Given the description of an element on the screen output the (x, y) to click on. 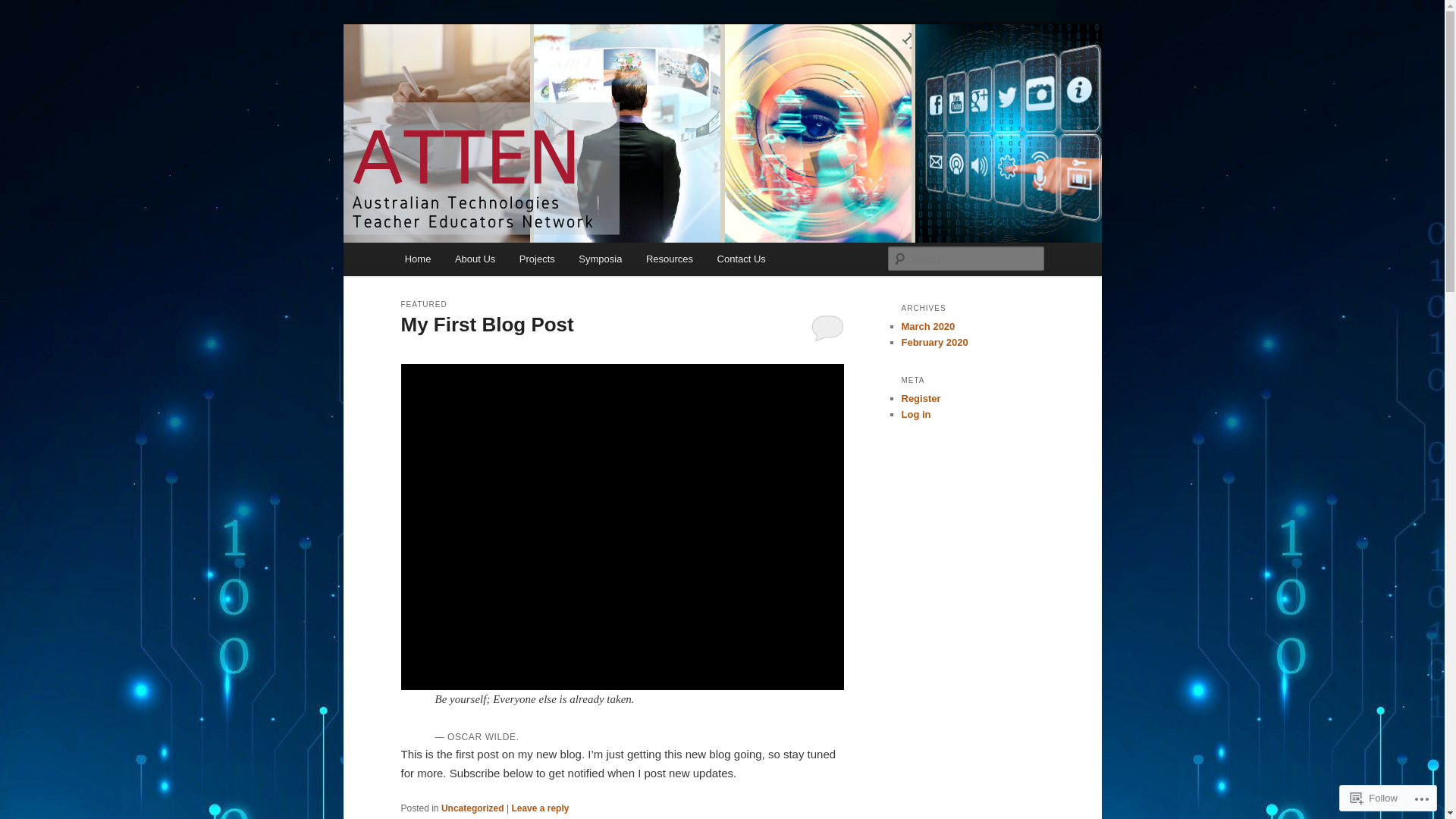
February 2020 Element type: text (933, 342)
Skip to primary content Element type: text (22, 22)
Uncategorized Element type: text (472, 807)
About Us Element type: text (474, 258)
Resources Element type: text (669, 258)
Register Element type: text (920, 398)
Projects Element type: text (536, 258)
Search Element type: text (24, 8)
matthewbower Element type: text (567, 352)
Contact Us Element type: text (741, 258)
Follow Element type: text (1373, 797)
Leave a reply Element type: text (539, 807)
Home Element type: text (417, 258)
Log in Element type: text (915, 414)
My First Blog Post Element type: text (486, 324)
February 25, 2020 Element type: text (482, 352)
March 2020 Element type: text (927, 326)
Symposia Element type: text (600, 258)
Australian Technologies Teacher Educators Network Element type: text (636, 92)
